Given the description of an element on the screen output the (x, y) to click on. 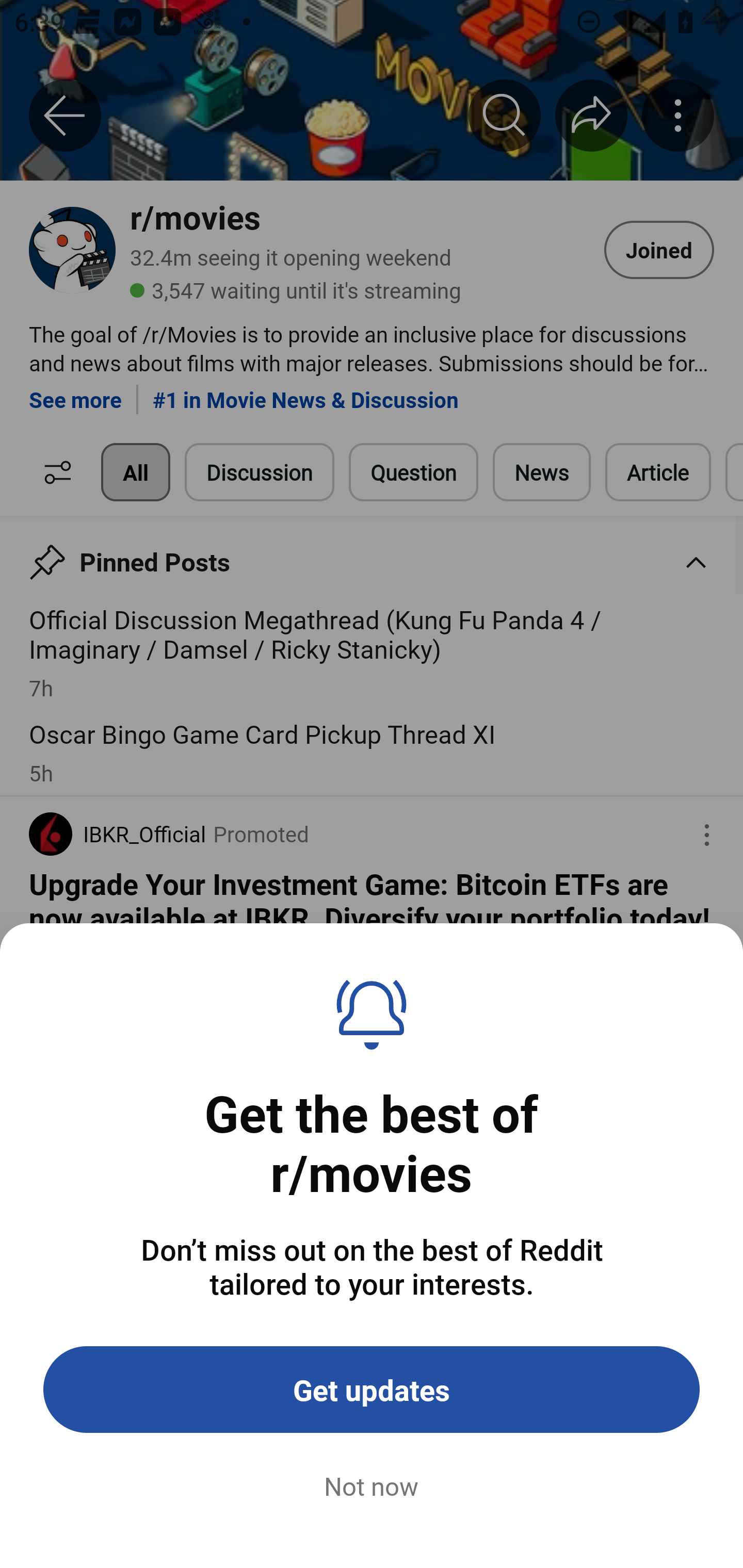
Image (371, 1212)
Get updates (371, 1389)
Not now (371, 1486)
